Given the description of an element on the screen output the (x, y) to click on. 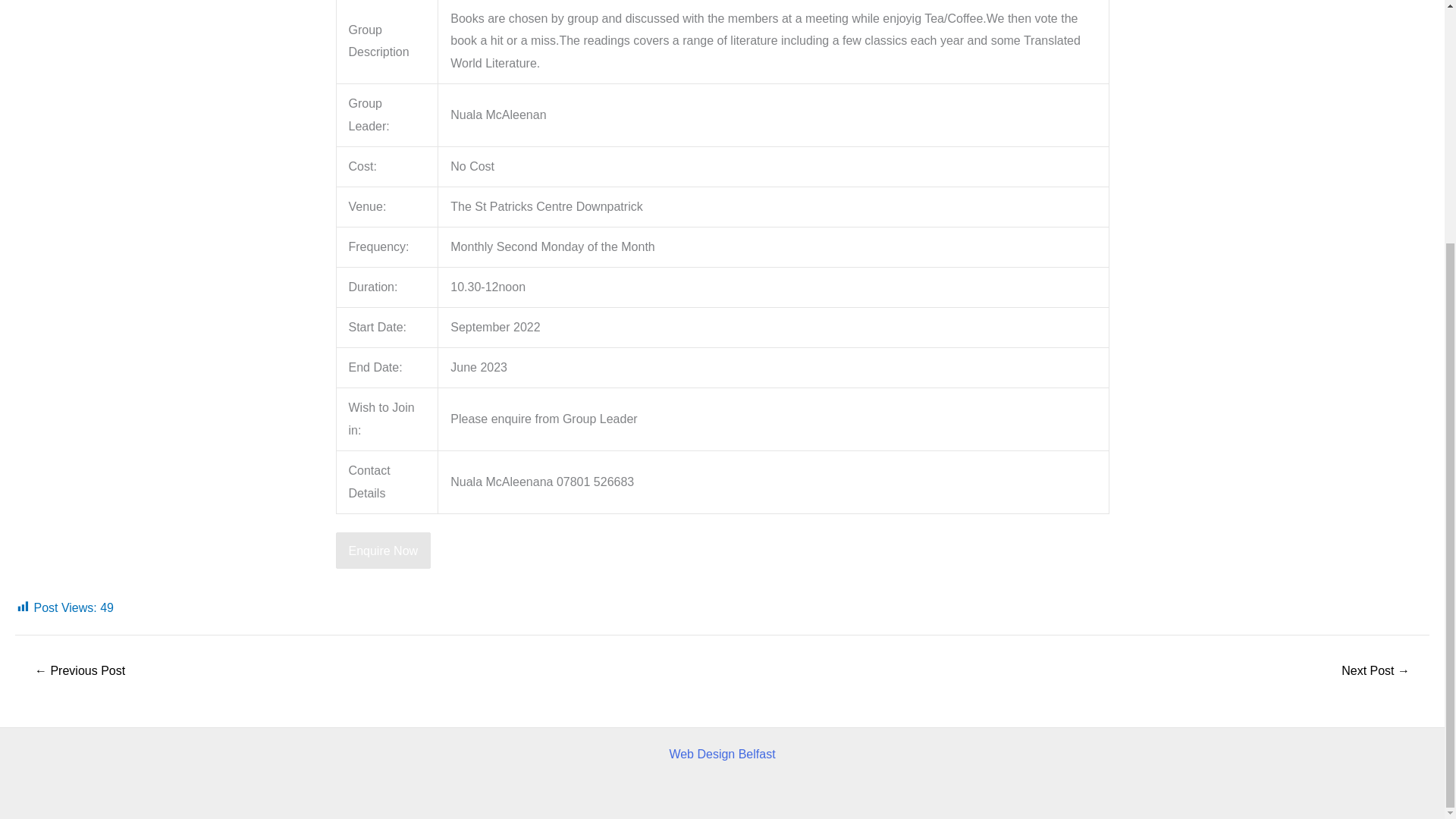
Table Tennis 2 Group (1375, 671)
Enquire Now (382, 550)
Scrabble Group (79, 671)
Enquire Now (382, 550)
